Given the description of an element on the screen output the (x, y) to click on. 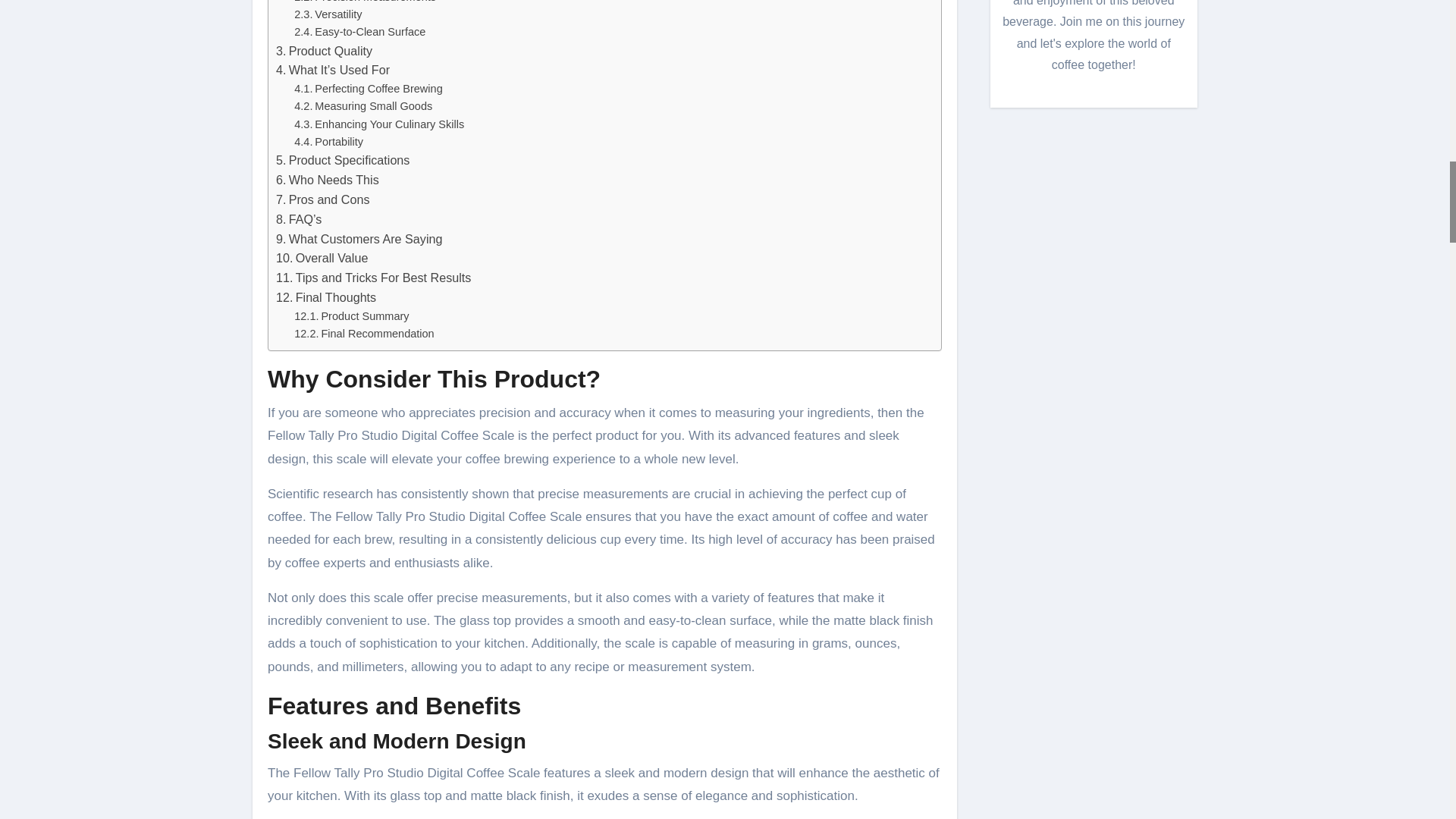
Precision Measurements (364, 2)
Precision Measurements (364, 2)
Versatility (327, 14)
Versatility (327, 14)
